Given the description of an element on the screen output the (x, y) to click on. 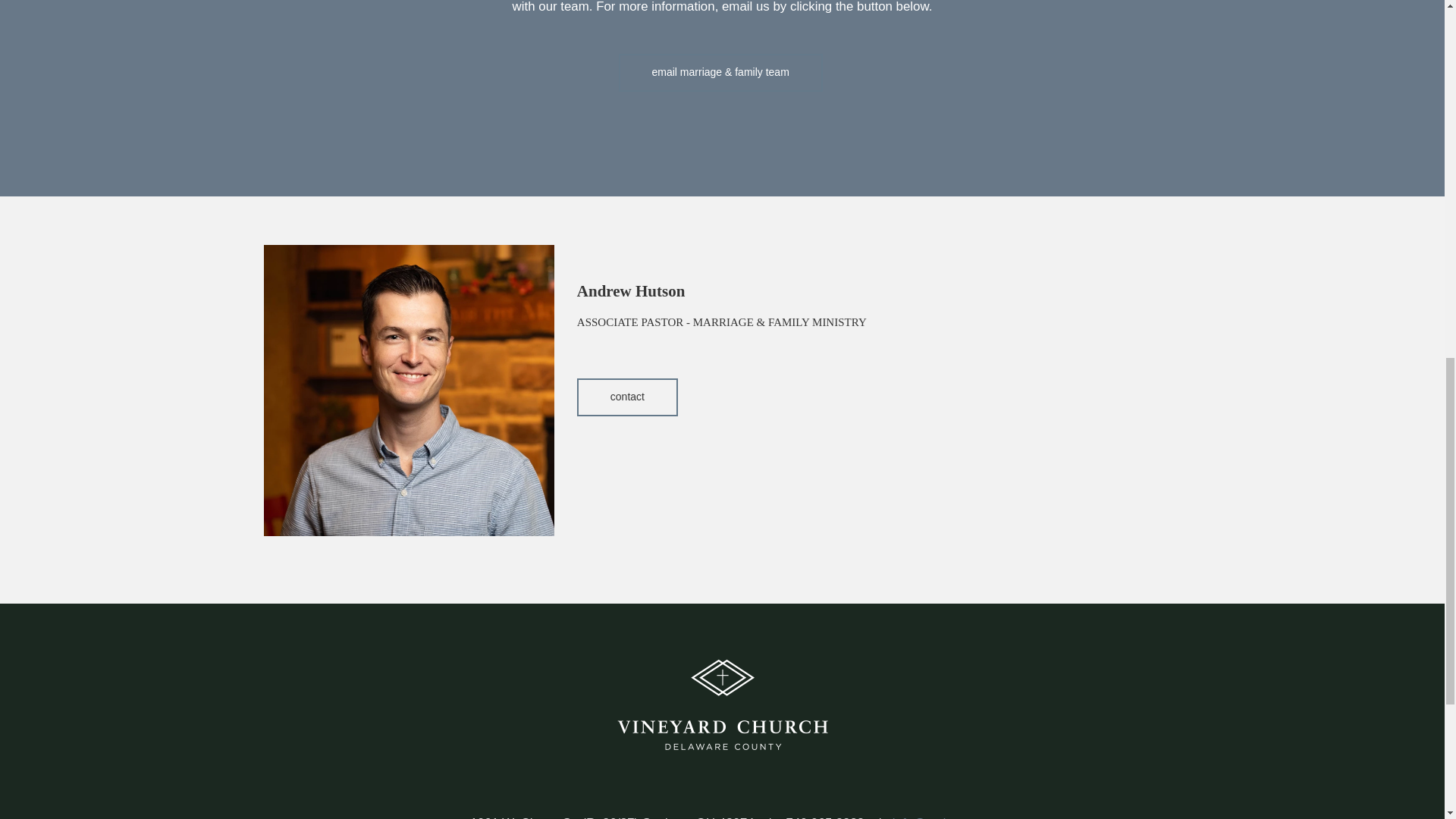
VCDC Home (721, 704)
